Given the description of an element on the screen output the (x, y) to click on. 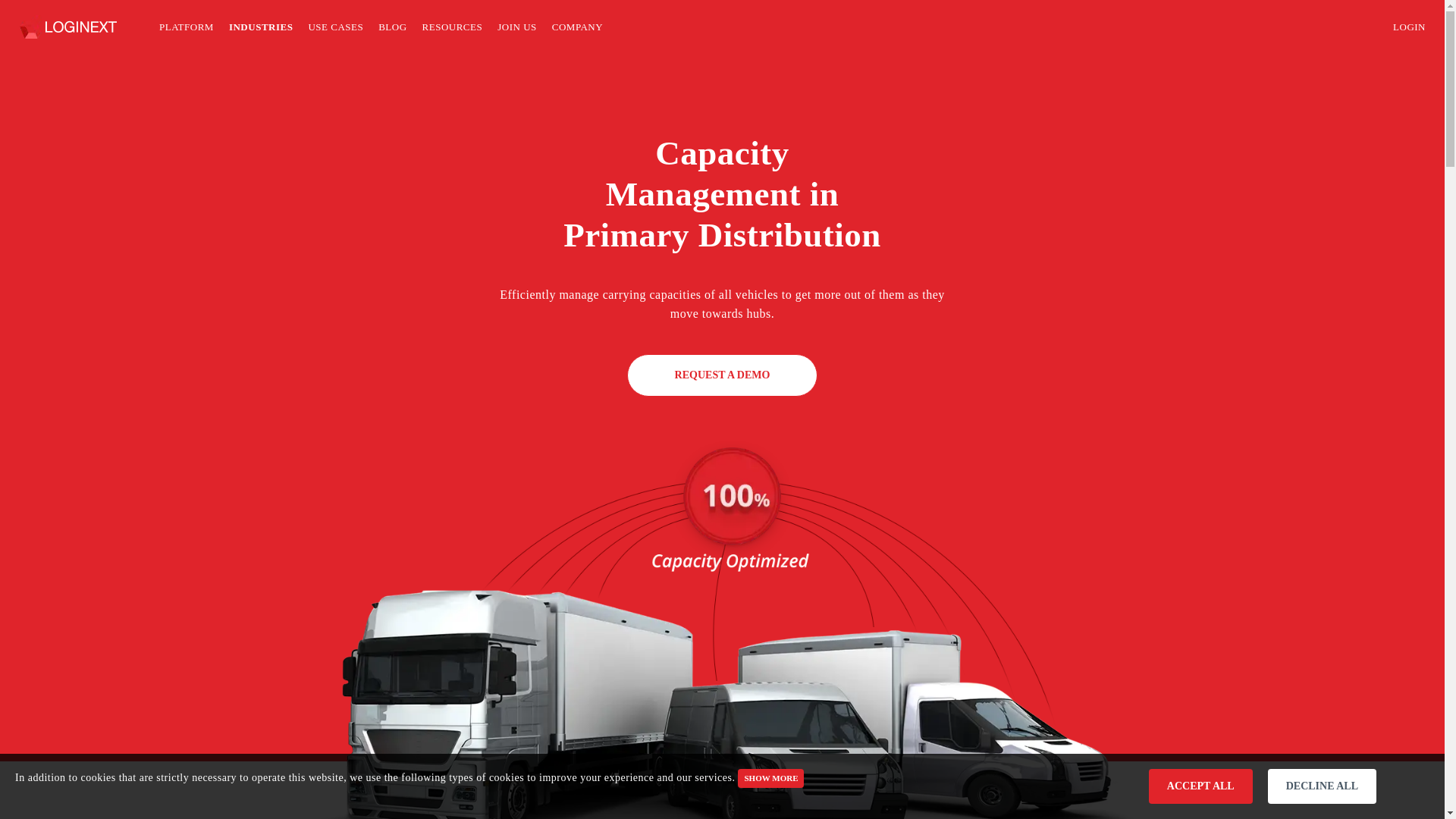
INDUSTRIES (260, 28)
Login (1409, 28)
PLATFORM (186, 28)
ACCEPT ALL (1200, 786)
SHOW MORE (770, 778)
DECLINE ALL (1321, 786)
